Given the description of an element on the screen output the (x, y) to click on. 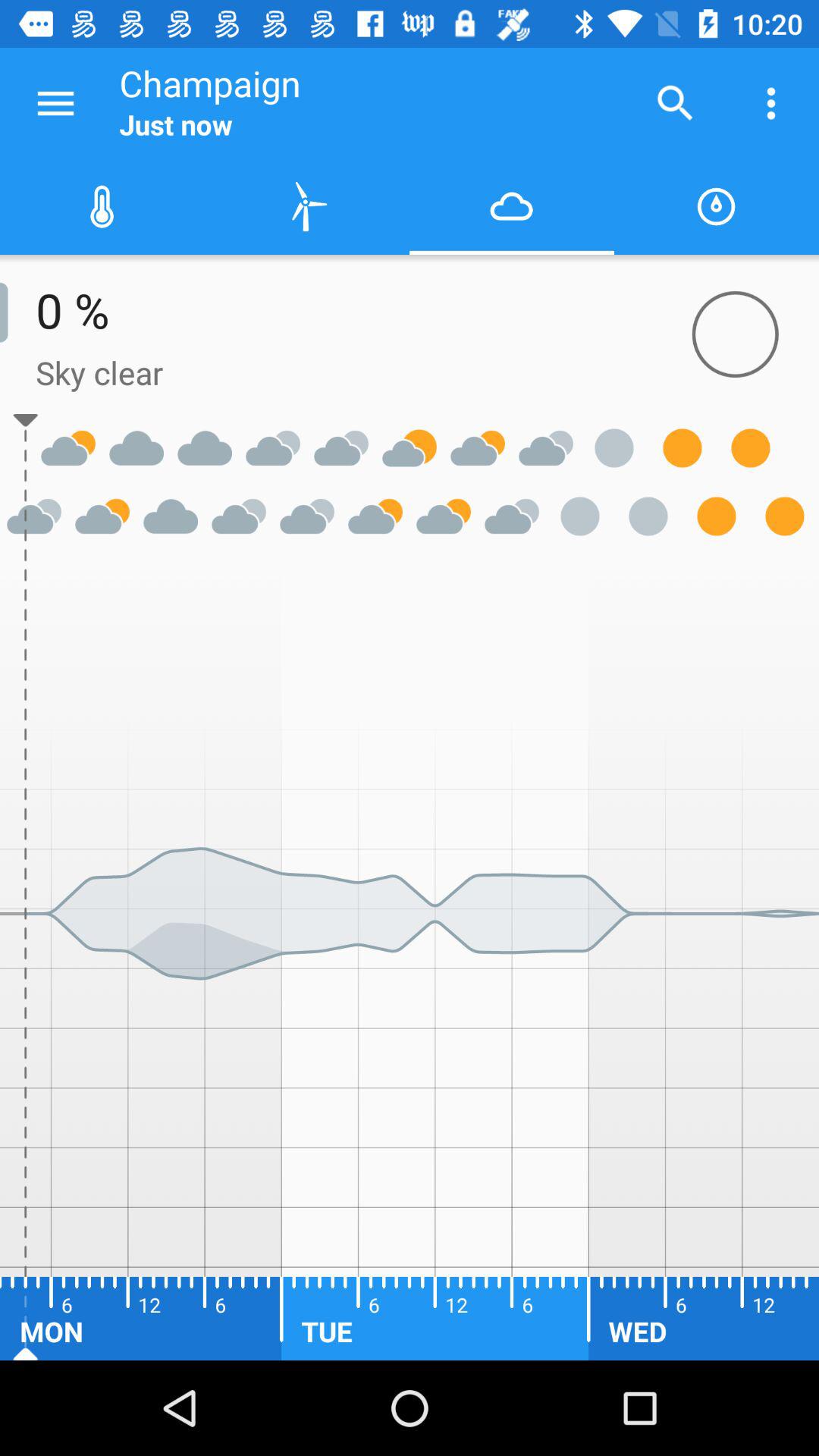
click the icon next to champaign item (55, 103)
